Given the description of an element on the screen output the (x, y) to click on. 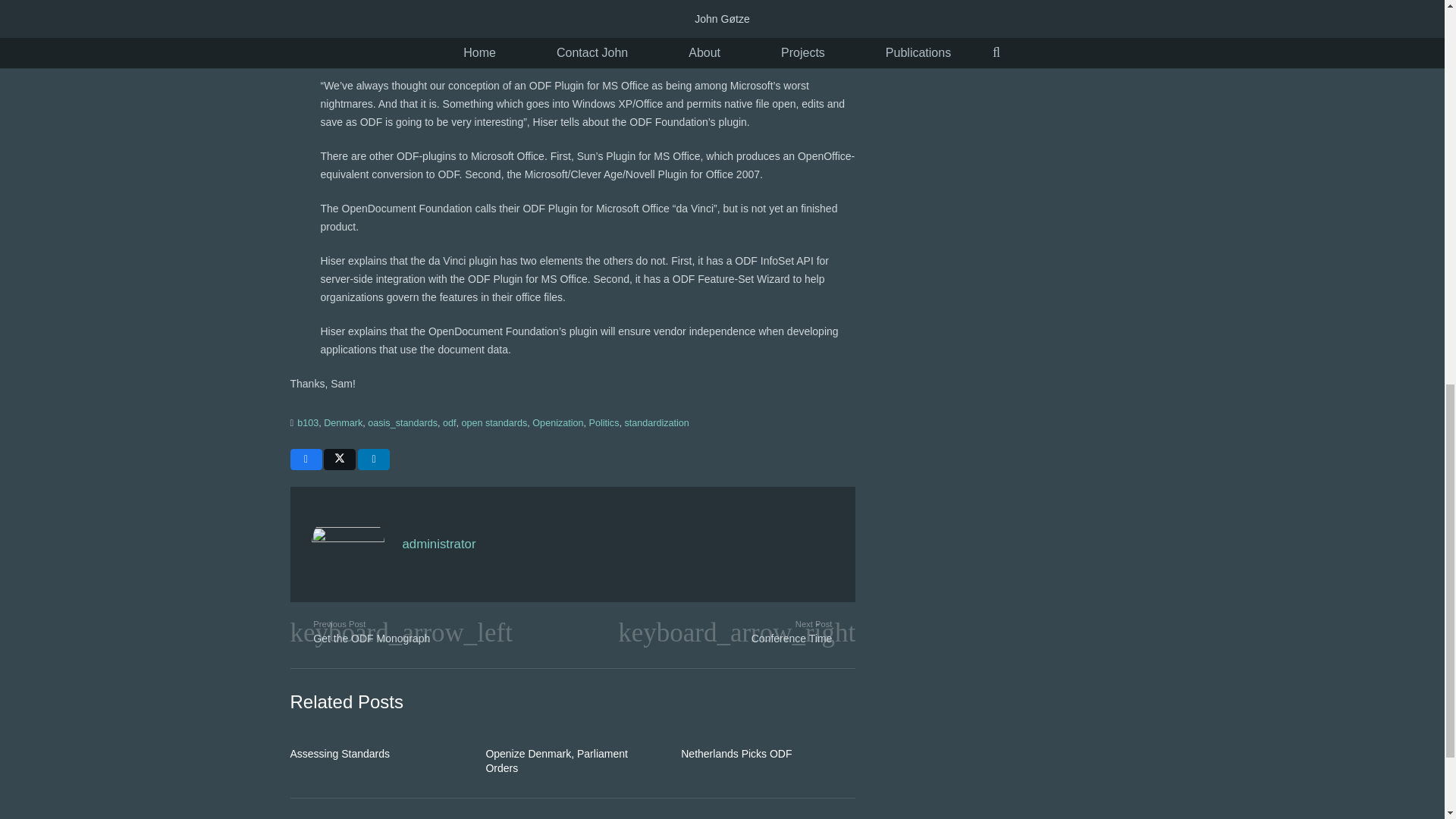
b103 (307, 422)
Tweet this (339, 459)
Get the ODF Monograph (430, 632)
Conference Time (714, 632)
Denmark (342, 422)
Share this (374, 459)
Share this (305, 459)
open standards (494, 422)
odf (449, 422)
Back to top (30, 26)
